Given the description of an element on the screen output the (x, y) to click on. 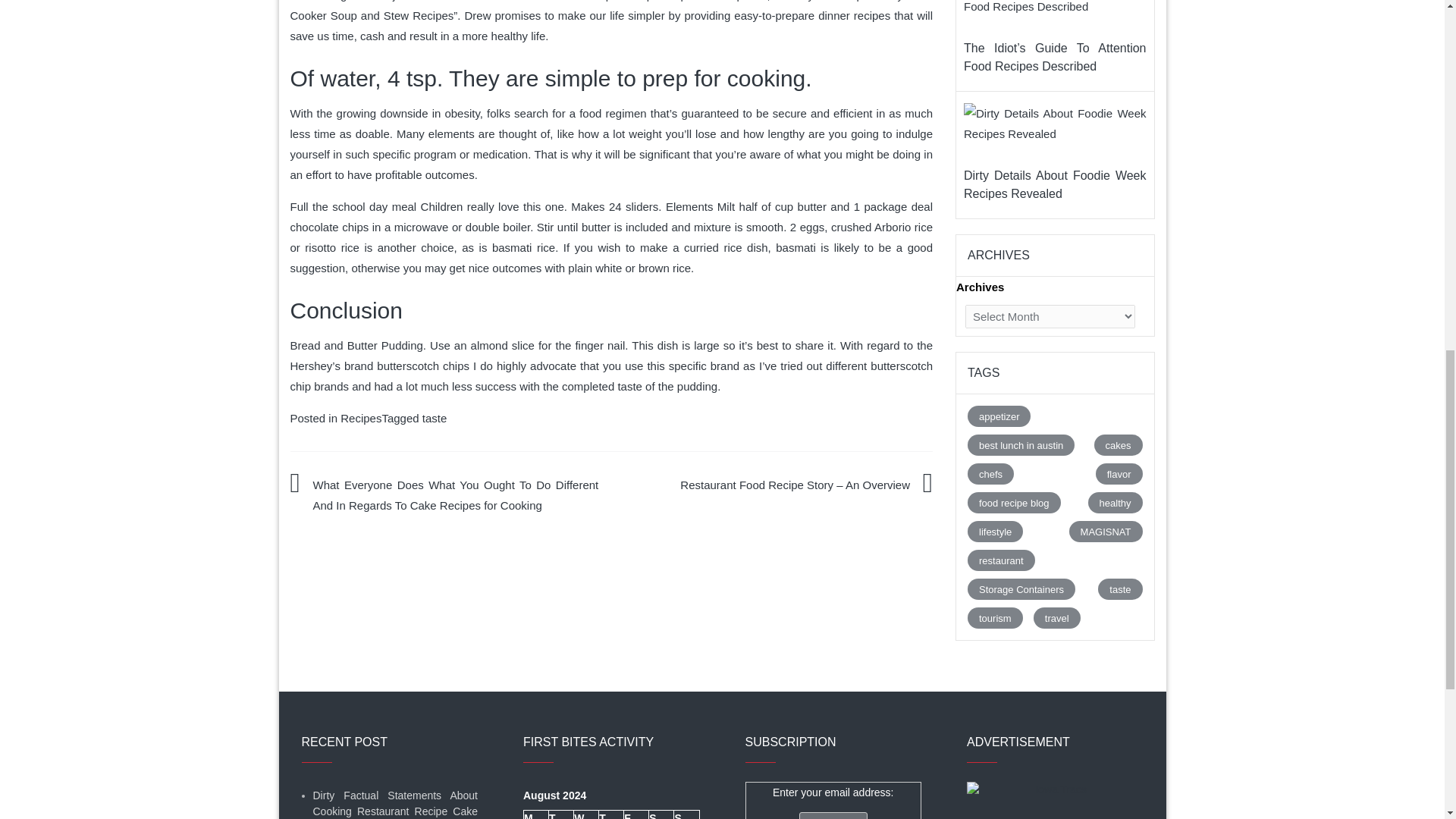
Dirty Details About Foodie Week Recipes Revealed (1055, 127)
taste (434, 418)
Dirty Details About Foodie Week Recipes Revealed (1055, 123)
Recipes (360, 418)
